Given the description of an element on the screen output the (x, y) to click on. 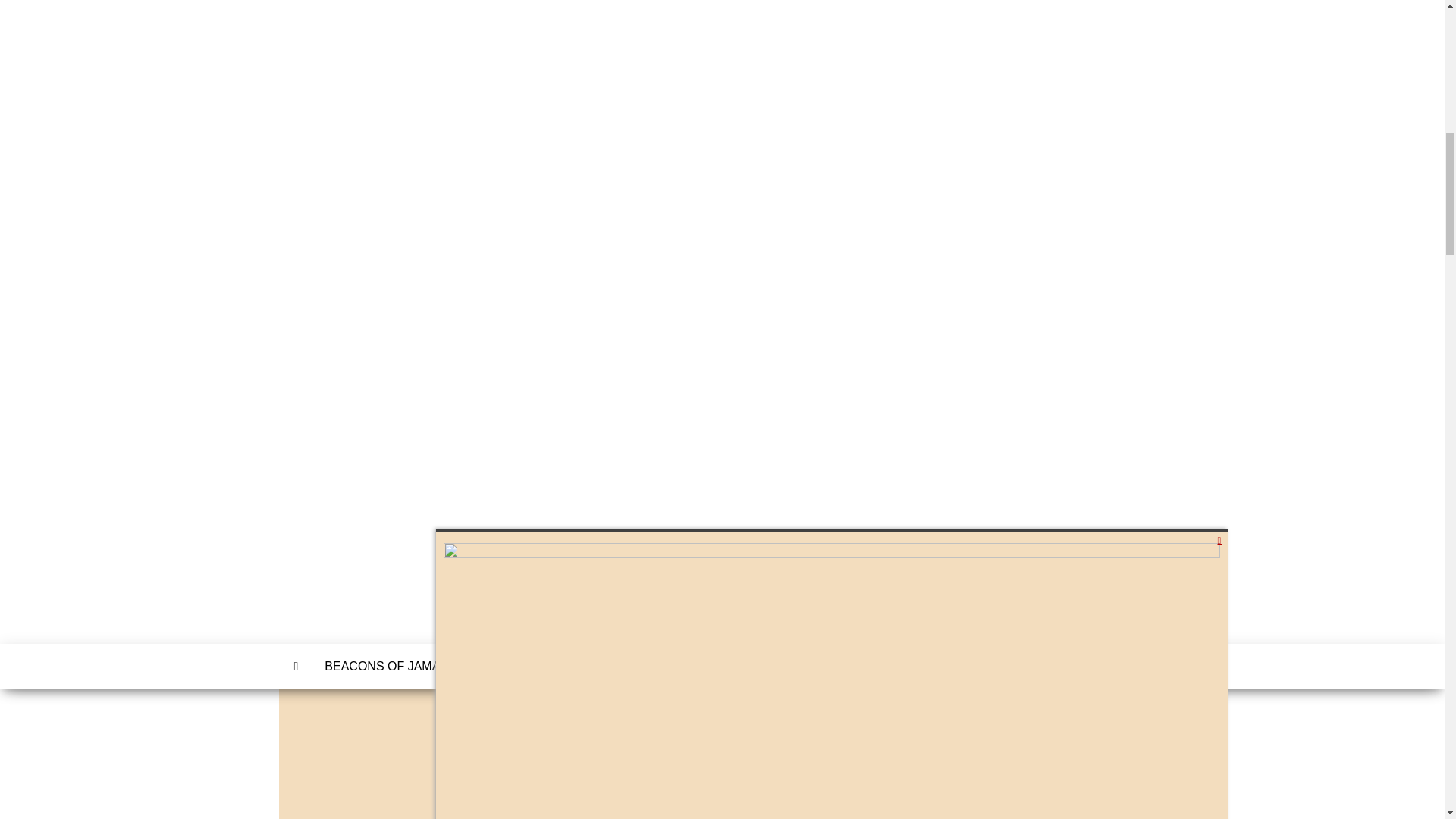
FUNERAL REPORTS (707, 666)
BEACONS OF JAMAICA (392, 666)
FUNERAL REPORTS (707, 666)
THE BIG STORY - NEWS (554, 666)
BEACONS OF JAMAICA (392, 666)
Jamaica Beacon (296, 666)
